Given the description of an element on the screen output the (x, y) to click on. 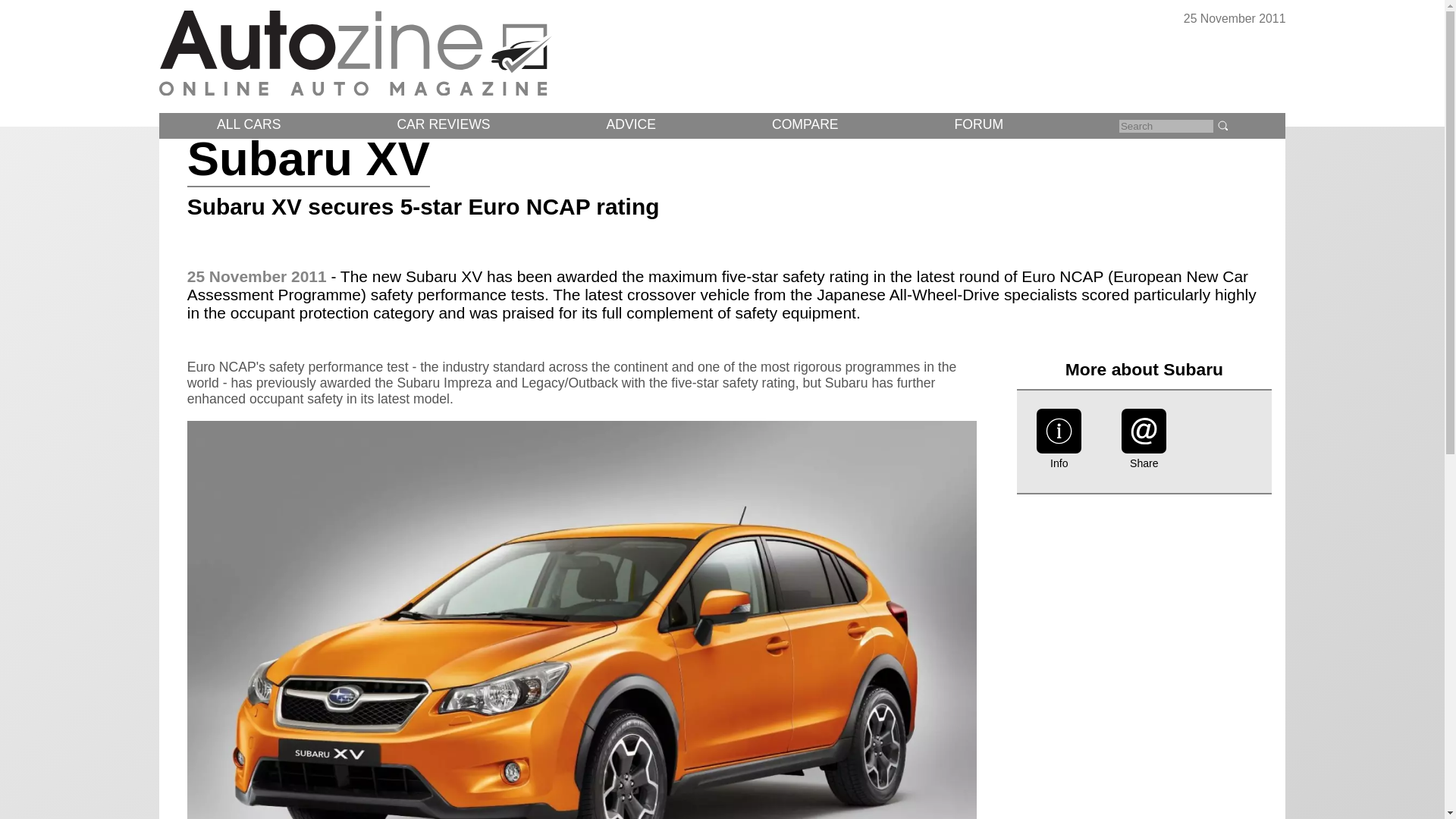
Mail a friend (1143, 448)
Info Subaru (1058, 460)
Search (1222, 124)
ALL CARS (248, 124)
Advertisement (1143, 653)
